Given the description of an element on the screen output the (x, y) to click on. 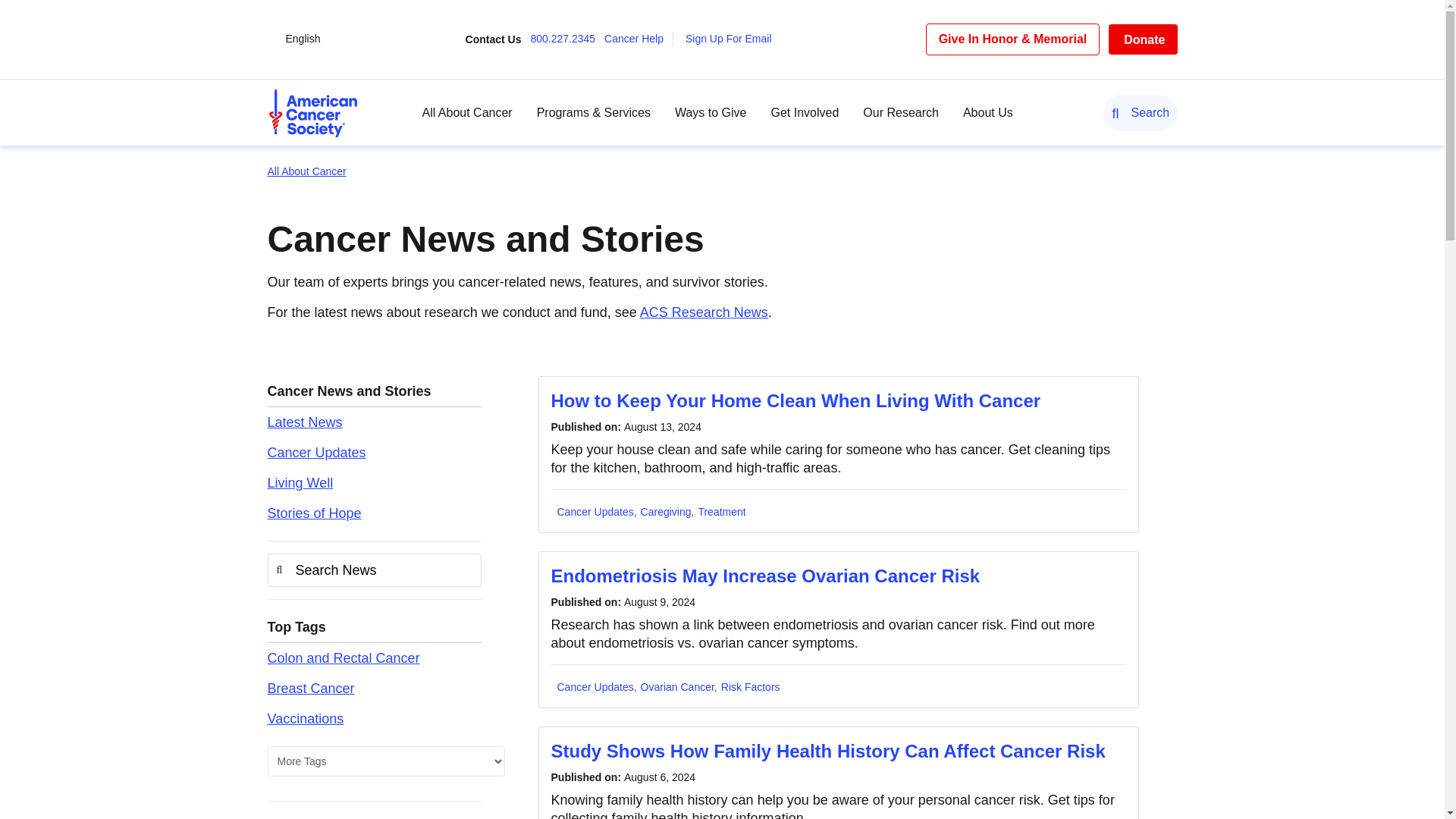
800.227.2345 (566, 39)
All About Cancer (467, 111)
English (302, 39)
Cancer Help (638, 39)
Sign Up For Email (732, 39)
Donate (1142, 39)
